Given the description of an element on the screen output the (x, y) to click on. 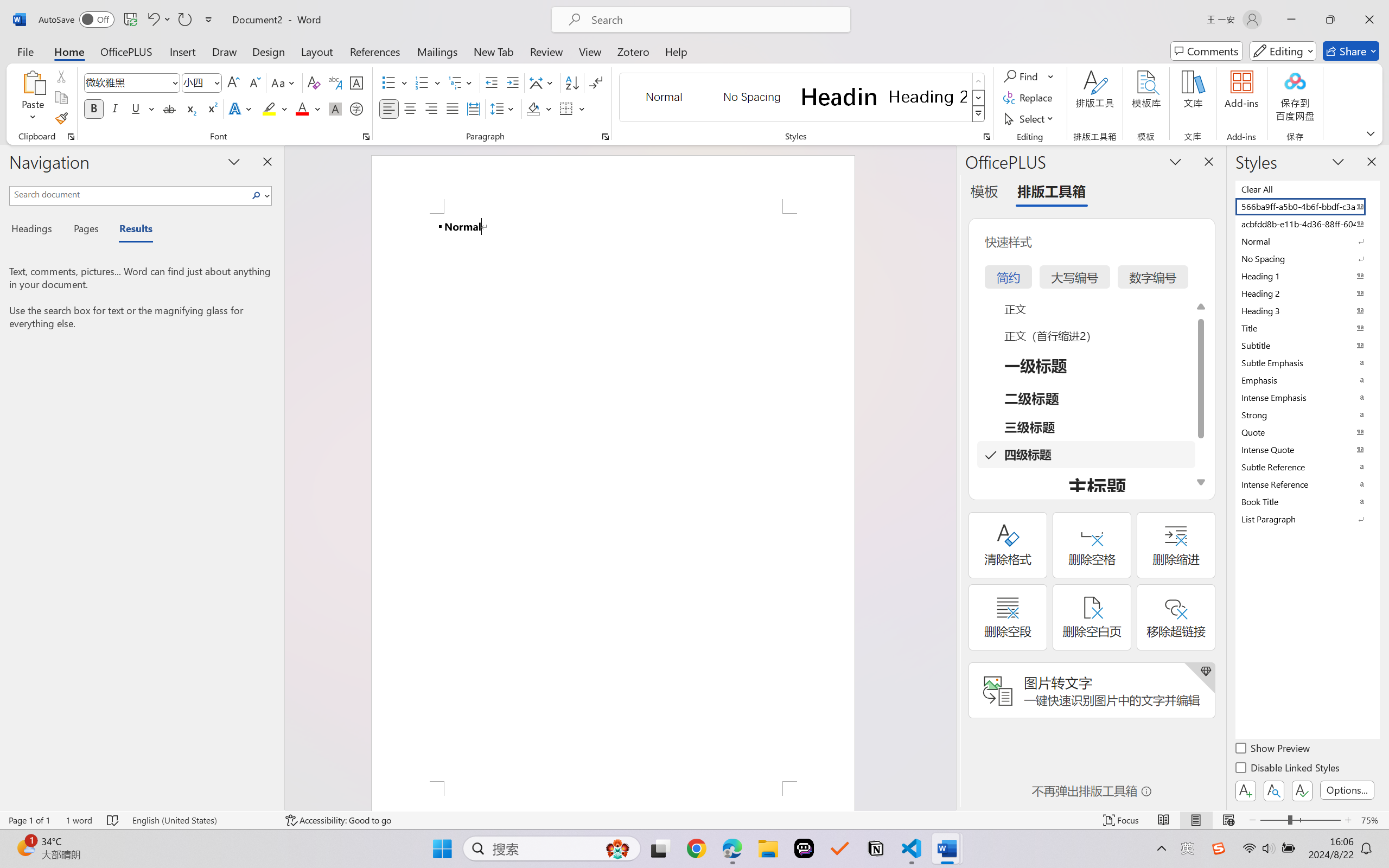
Customize Quick Access Toolbar (208, 19)
Center (409, 108)
Heading 2 (927, 96)
Copy (60, 97)
Title (1306, 327)
Class: NetUIImage (978, 114)
Numbering (428, 82)
acbfdd8b-e11b-4d36-88ff-6049b138f862 (1306, 223)
Select (1030, 118)
